Given the description of an element on the screen output the (x, y) to click on. 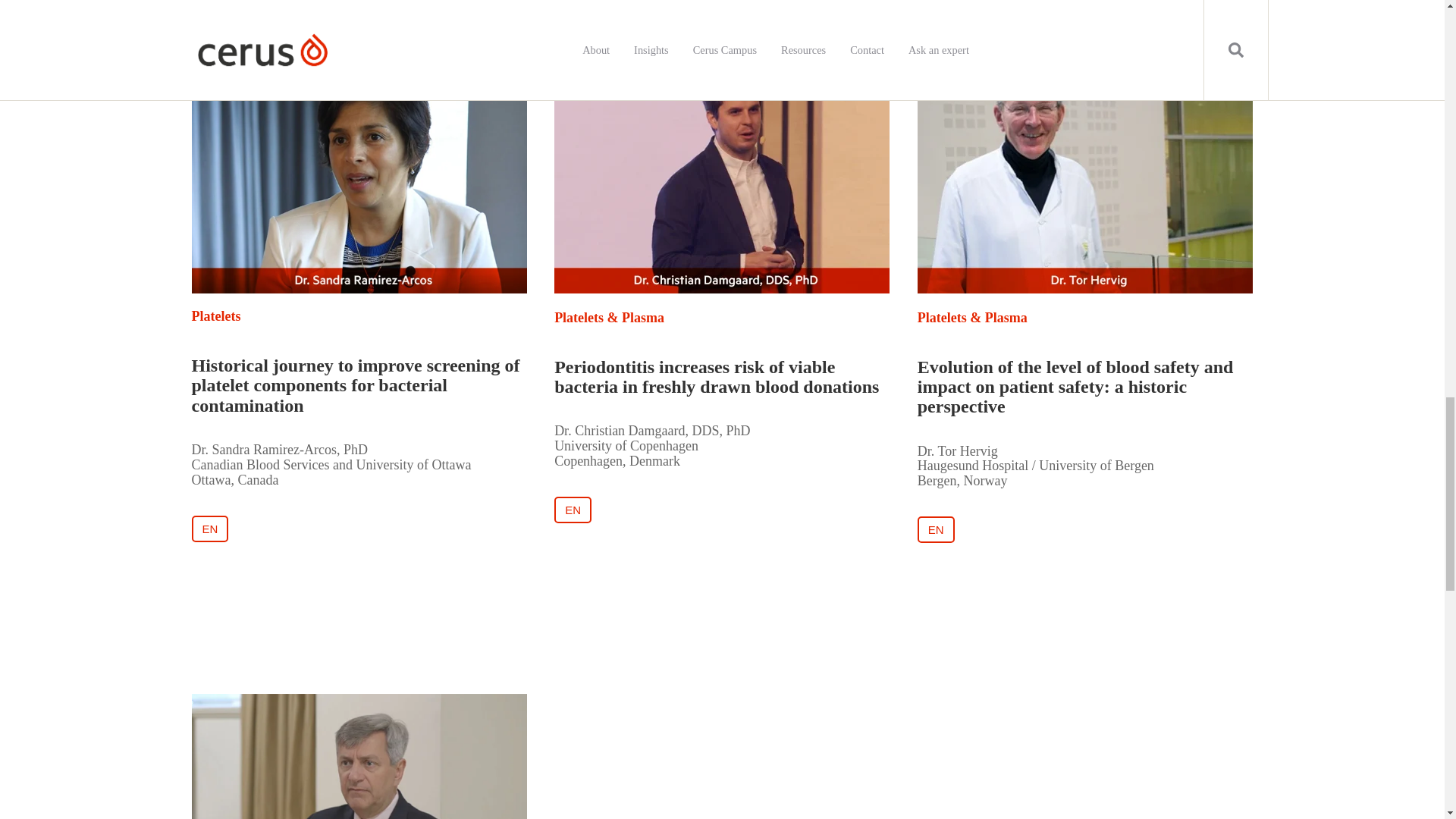
EN (572, 509)
EN (936, 529)
EN (209, 528)
EN (209, 528)
